Given the description of an element on the screen output the (x, y) to click on. 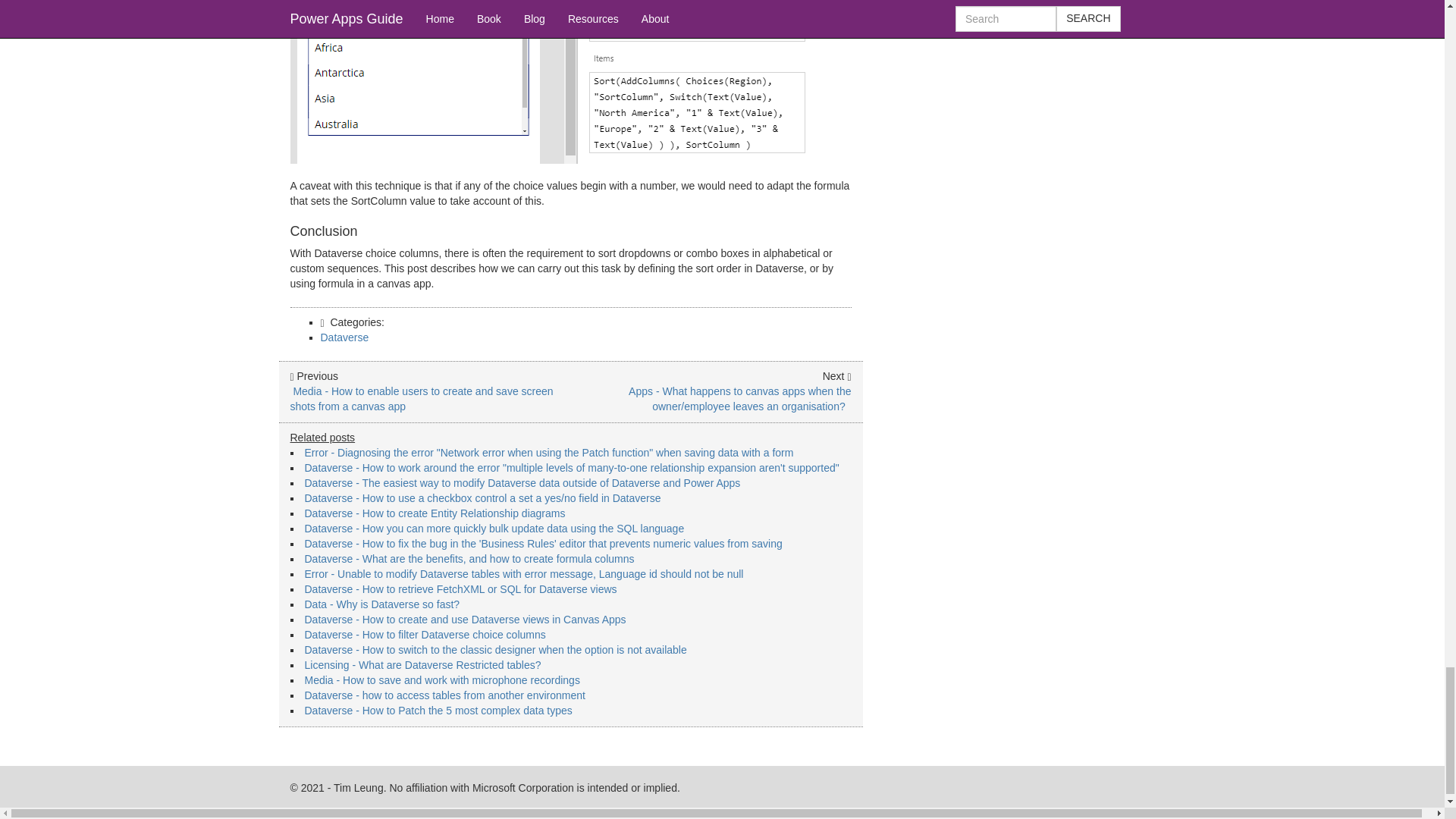
Licensing - What are Dataverse Restricted tables? (422, 664)
Dataverse (344, 337)
Dataverse - how to access tables from another environment (444, 695)
Dataverse - How to create Entity Relationship diagrams (435, 512)
Dataverse - How to Patch the 5 most complex data types (438, 710)
Media - How to save and work with microphone recordings (441, 680)
Dataverse - How to filter Dataverse choice columns (425, 634)
